Given the description of an element on the screen output the (x, y) to click on. 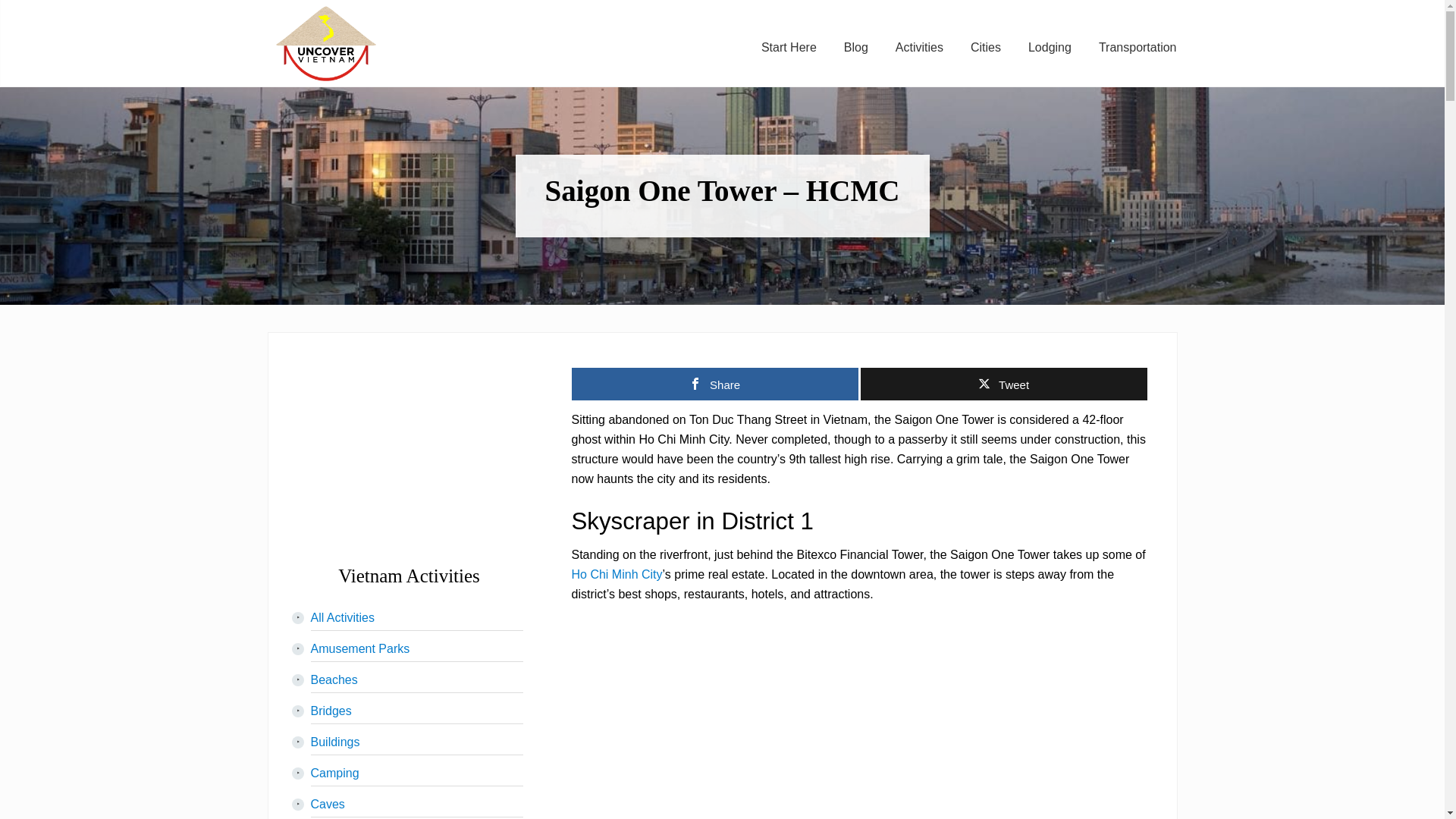
Cities (985, 47)
Ho Chi Minh City (617, 574)
Share (715, 383)
Start Here (788, 47)
Lodging (1049, 47)
Tweet (1003, 383)
Activities (919, 47)
Blog (855, 47)
Transportation (1137, 47)
